Given the description of an element on the screen output the (x, y) to click on. 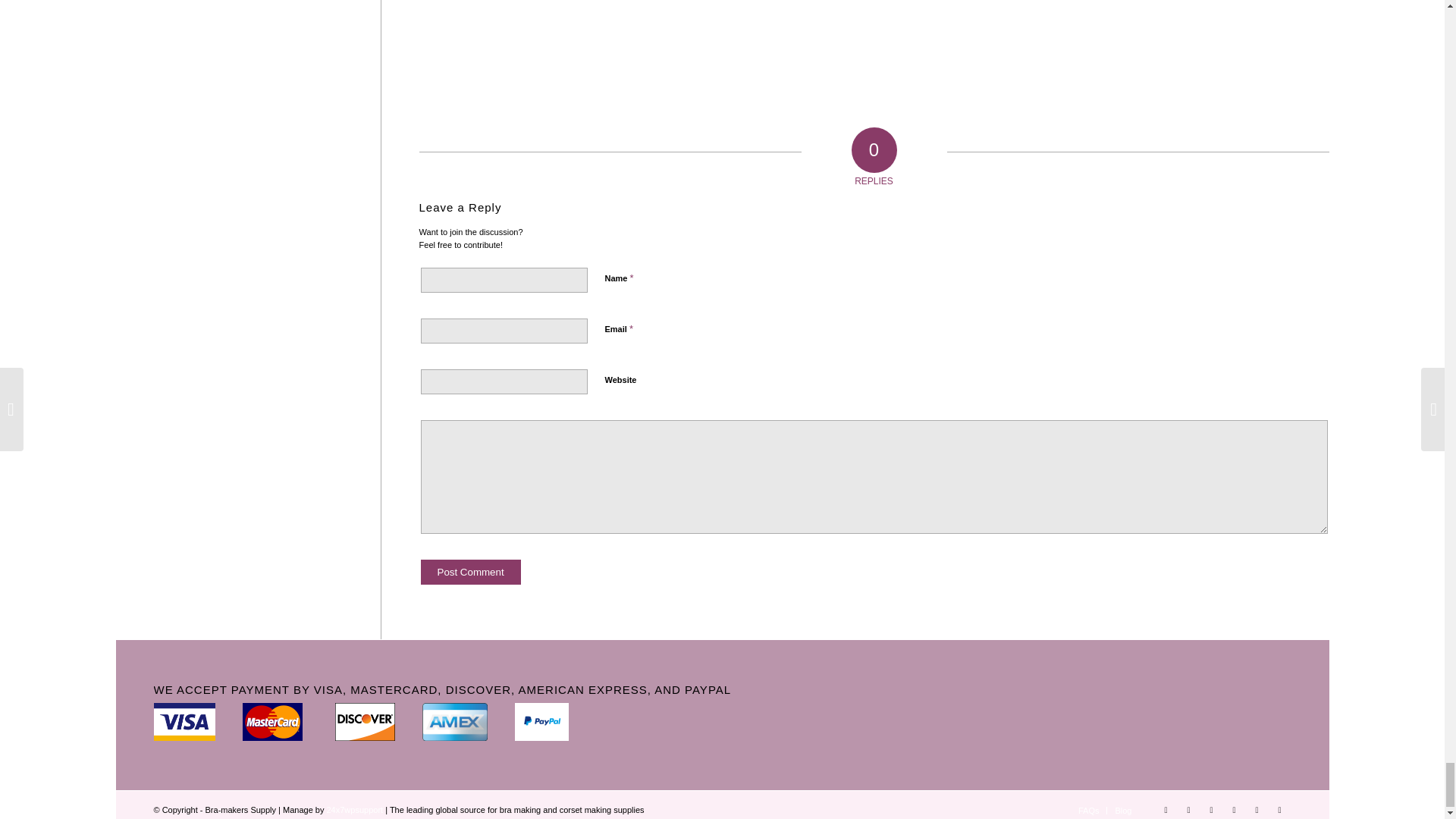
Post Comment (469, 571)
